Given the description of an element on the screen output the (x, y) to click on. 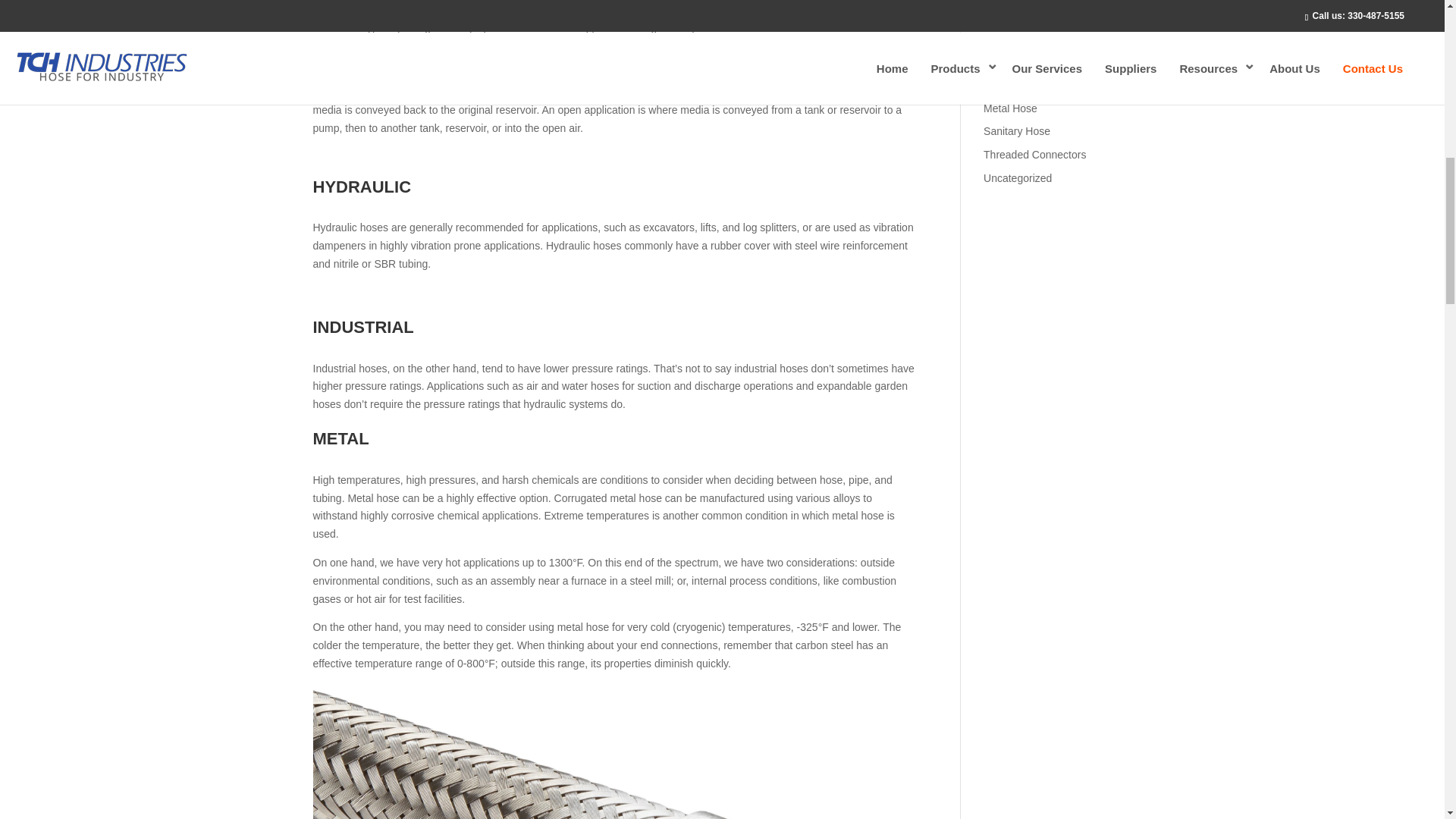
annuflex (614, 754)
